Given the description of an element on the screen output the (x, y) to click on. 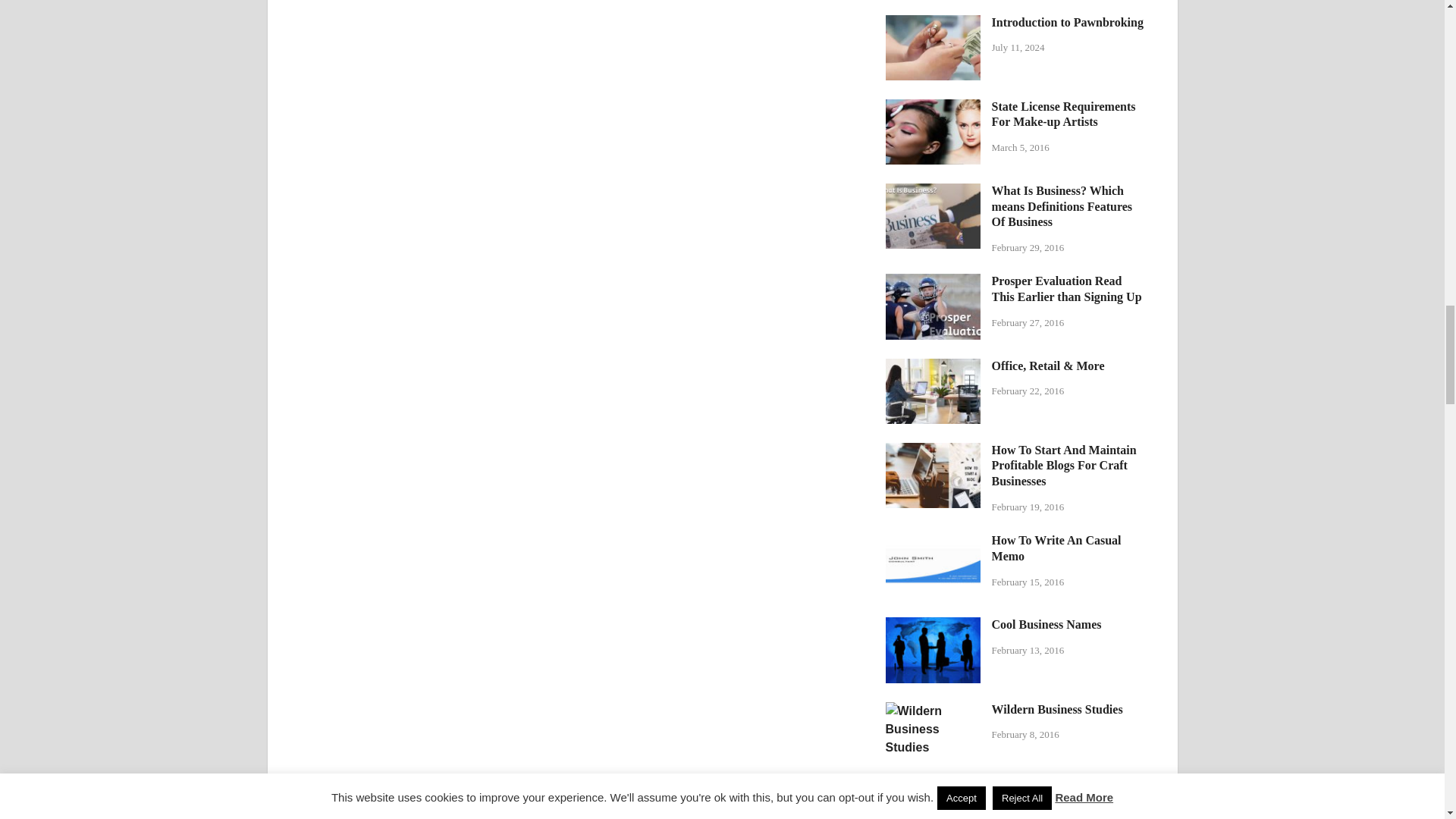
Introduction to Pawnbroking (932, 23)
